Given the description of an element on the screen output the (x, y) to click on. 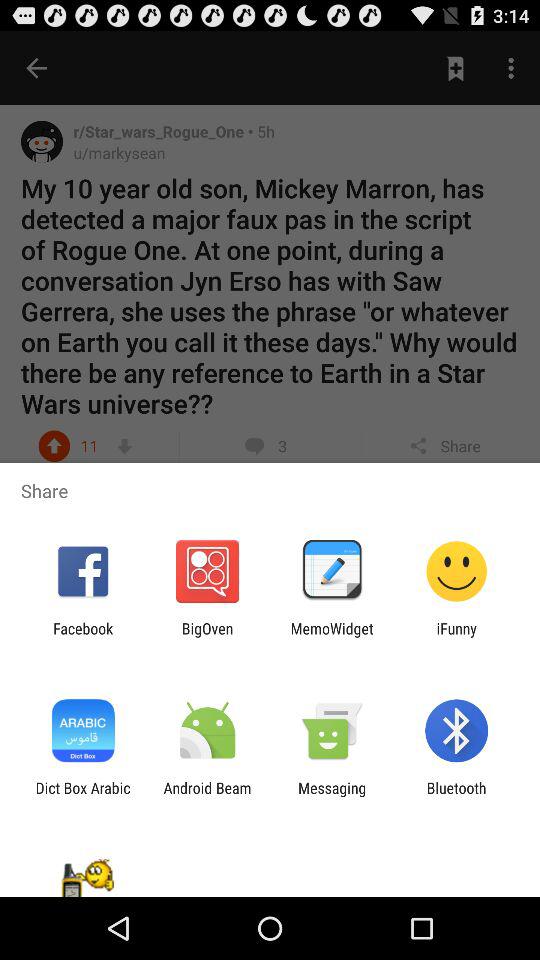
flip until facebook icon (83, 637)
